Given the description of an element on the screen output the (x, y) to click on. 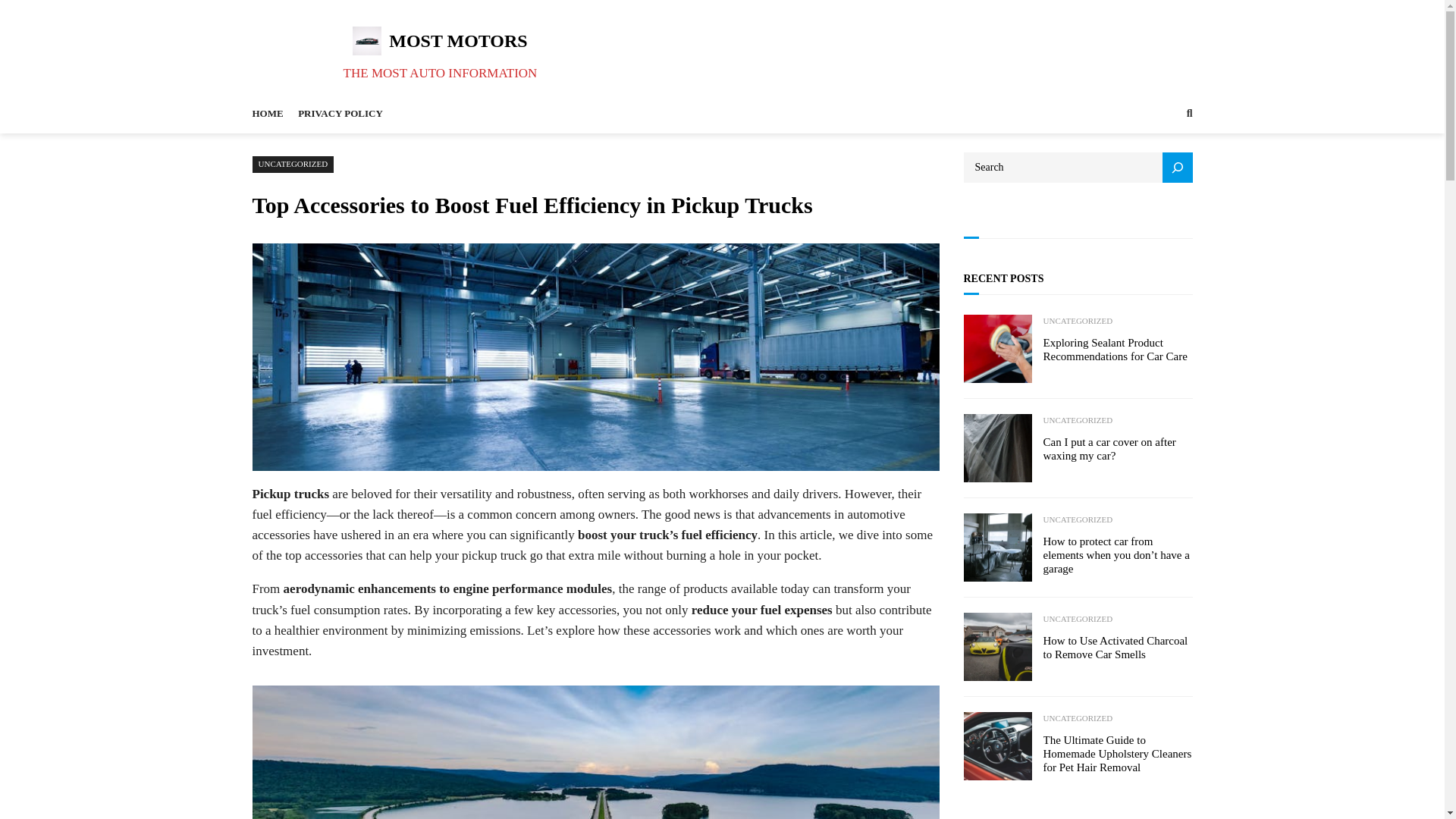
Exploring Sealant Product Recommendations for Car Care (1117, 349)
HOME (266, 113)
PRIVACY POLICY (340, 113)
MOST MOTORS (457, 40)
UNCATEGORIZED (1078, 619)
UNCATEGORIZED (292, 164)
UNCATEGORIZED (1078, 420)
How to Use Activated Charcoal to Remove Car Smells (1117, 646)
UNCATEGORIZED (1078, 321)
